Given the description of an element on the screen output the (x, y) to click on. 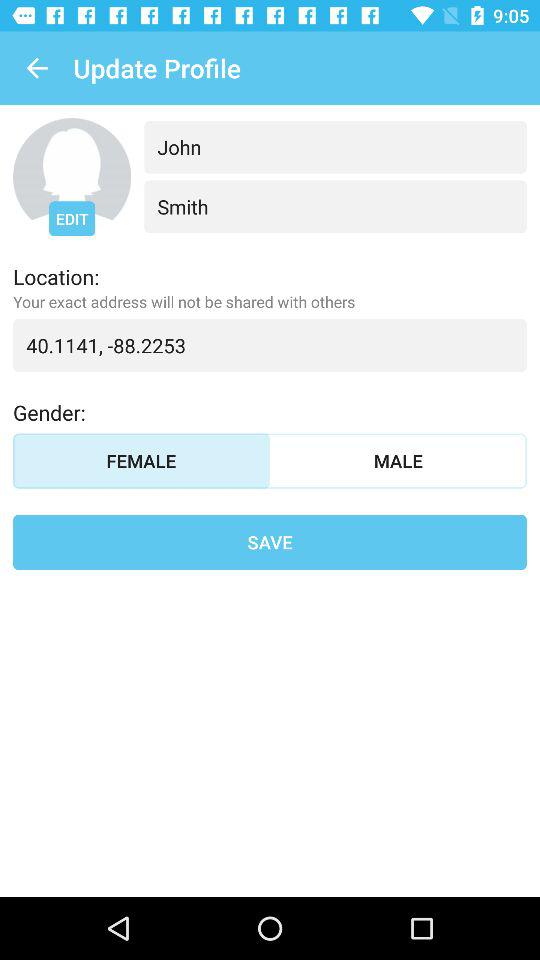
flip until the save item (269, 542)
